Given the description of an element on the screen output the (x, y) to click on. 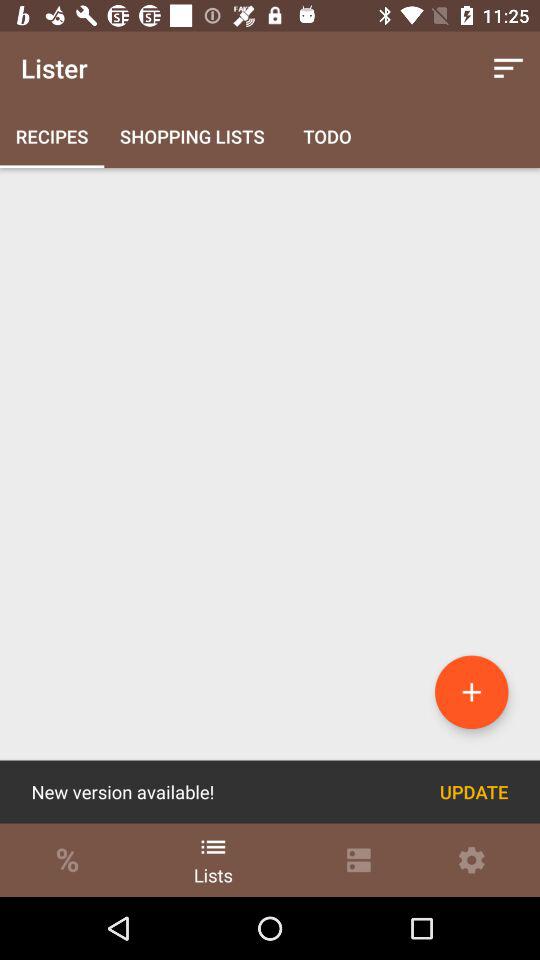
tap the icon to the right of the new version available! icon (474, 791)
